Given the description of an element on the screen output the (x, y) to click on. 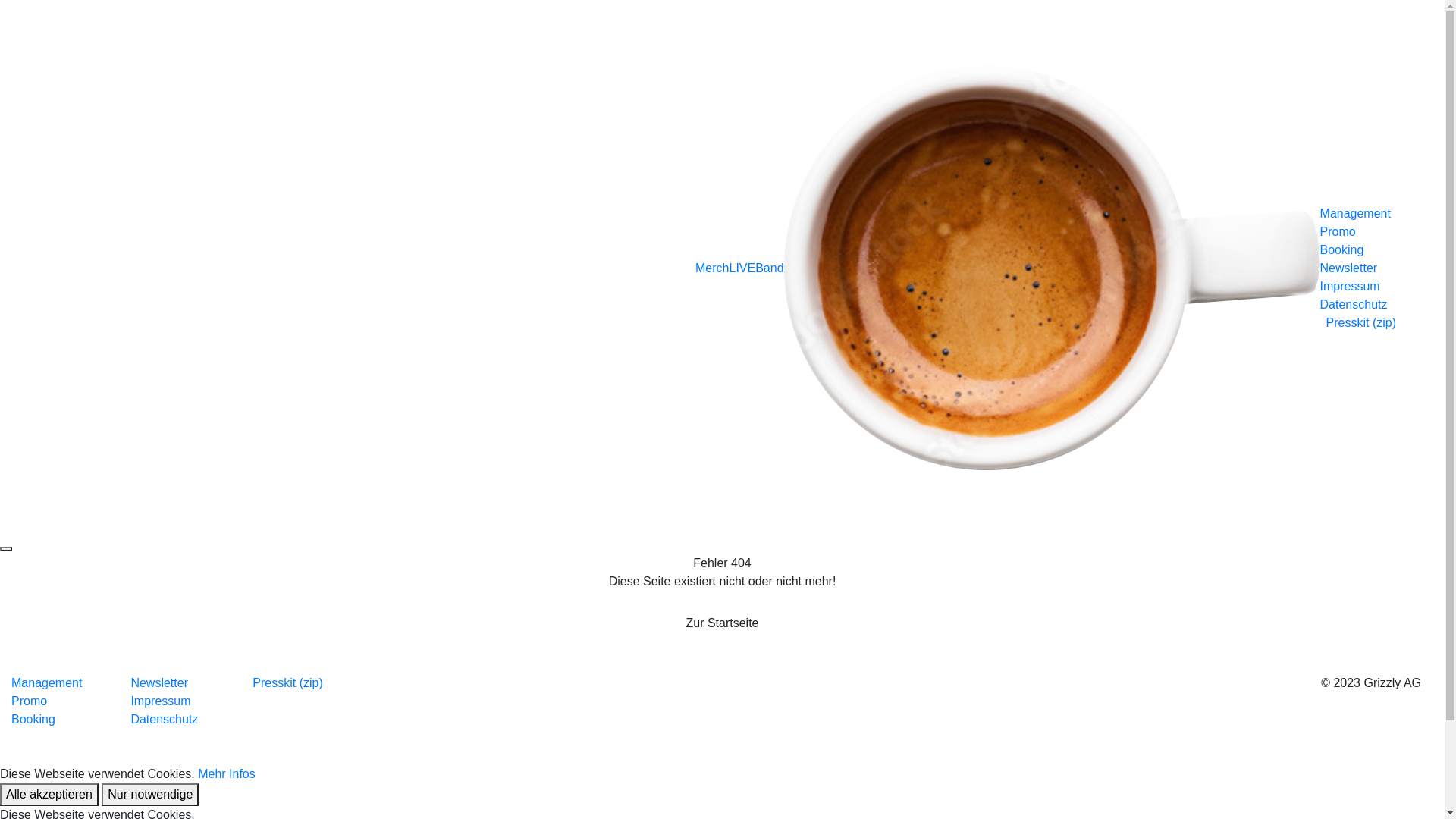
Promo Element type: text (46, 701)
Presskit (zip) Element type: text (284, 683)
Booking Element type: text (1358, 250)
Impressum Element type: text (1350, 285)
Nur notwendige Element type: text (149, 794)
Mehr Infos Element type: text (226, 773)
Impressum Element type: text (160, 700)
Datenschutz Element type: text (1353, 303)
Zur Startseite Element type: text (721, 622)
Newsletter Element type: text (1358, 268)
Datenschutz Element type: text (163, 718)
Promo Element type: text (1358, 231)
Presskit (zip) Element type: text (1358, 322)
Booking Element type: text (46, 719)
LIVE Element type: text (741, 266)
Management Element type: text (1358, 213)
Newsletter Element type: text (163, 683)
Band Element type: text (769, 266)
Management Element type: text (46, 683)
Alle akzeptieren Element type: text (49, 794)
Merch Element type: text (711, 266)
